Given the description of an element on the screen output the (x, y) to click on. 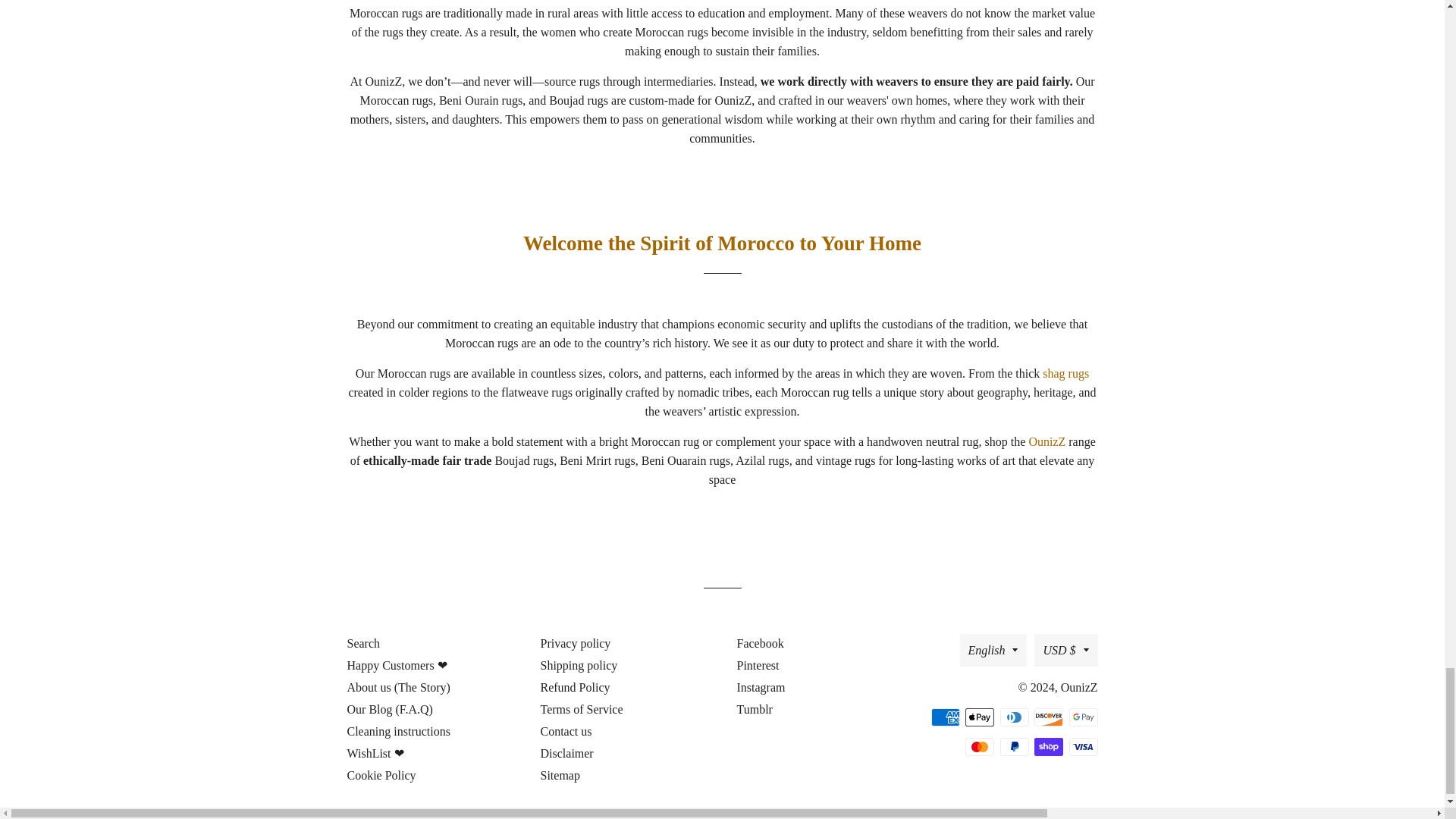
Mastercard (979, 746)
OunizZ on Instagram (759, 686)
Shop Pay (1047, 746)
Shag Rugs (1065, 373)
Diners Club (1012, 717)
OunizZ on Pinterest (755, 665)
Apple Pay (979, 717)
Visa (1082, 746)
Google Pay (1082, 717)
Discover (1047, 717)
American Express (945, 717)
Moroccan Rugs OunizZ (1047, 440)
OunizZ on Facebook (758, 643)
PayPal (1012, 746)
